Given the description of an element on the screen output the (x, y) to click on. 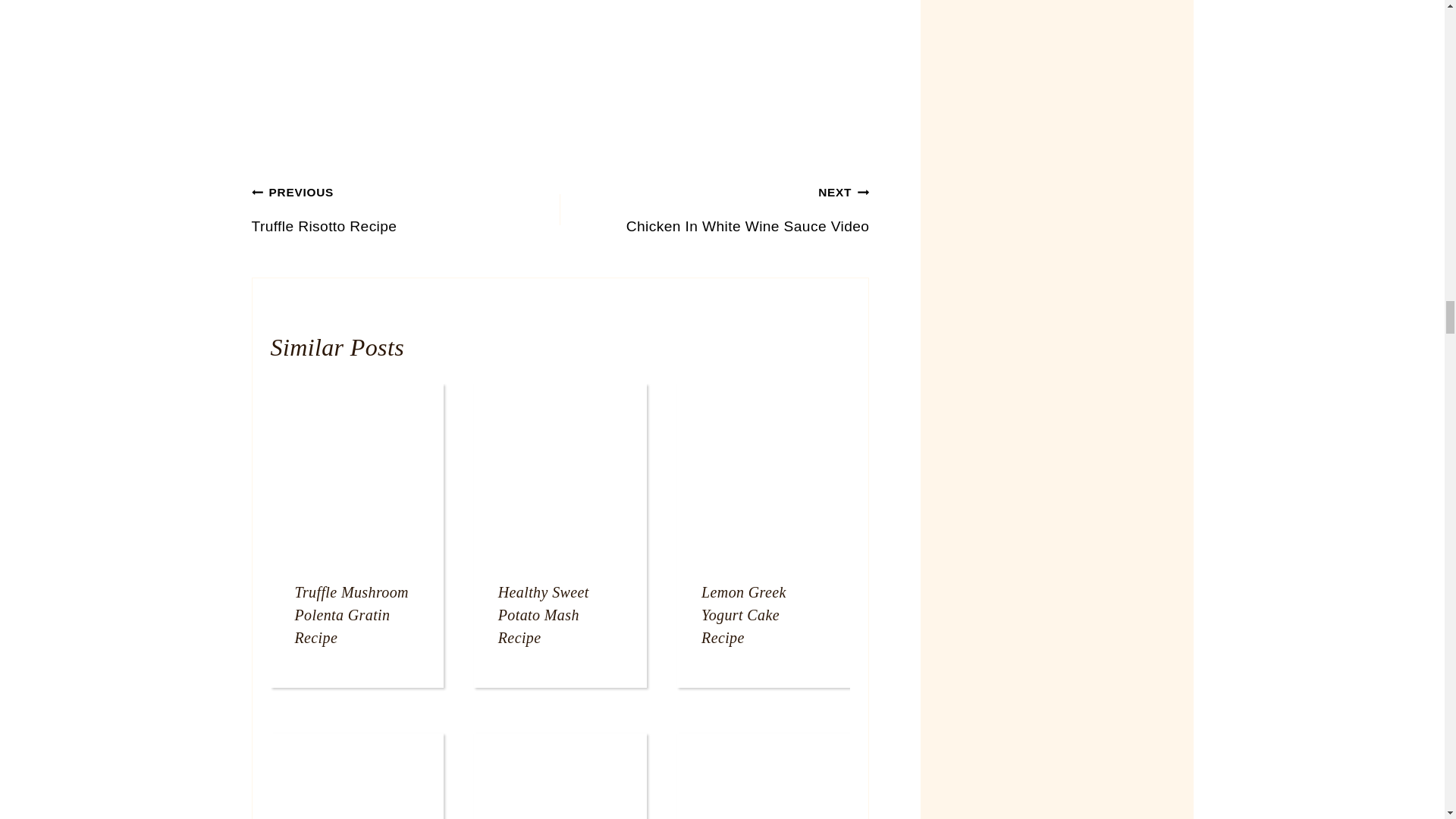
Truffle Mushroom Polenta Gratin Recipe (350, 614)
